Given the description of an element on the screen output the (x, y) to click on. 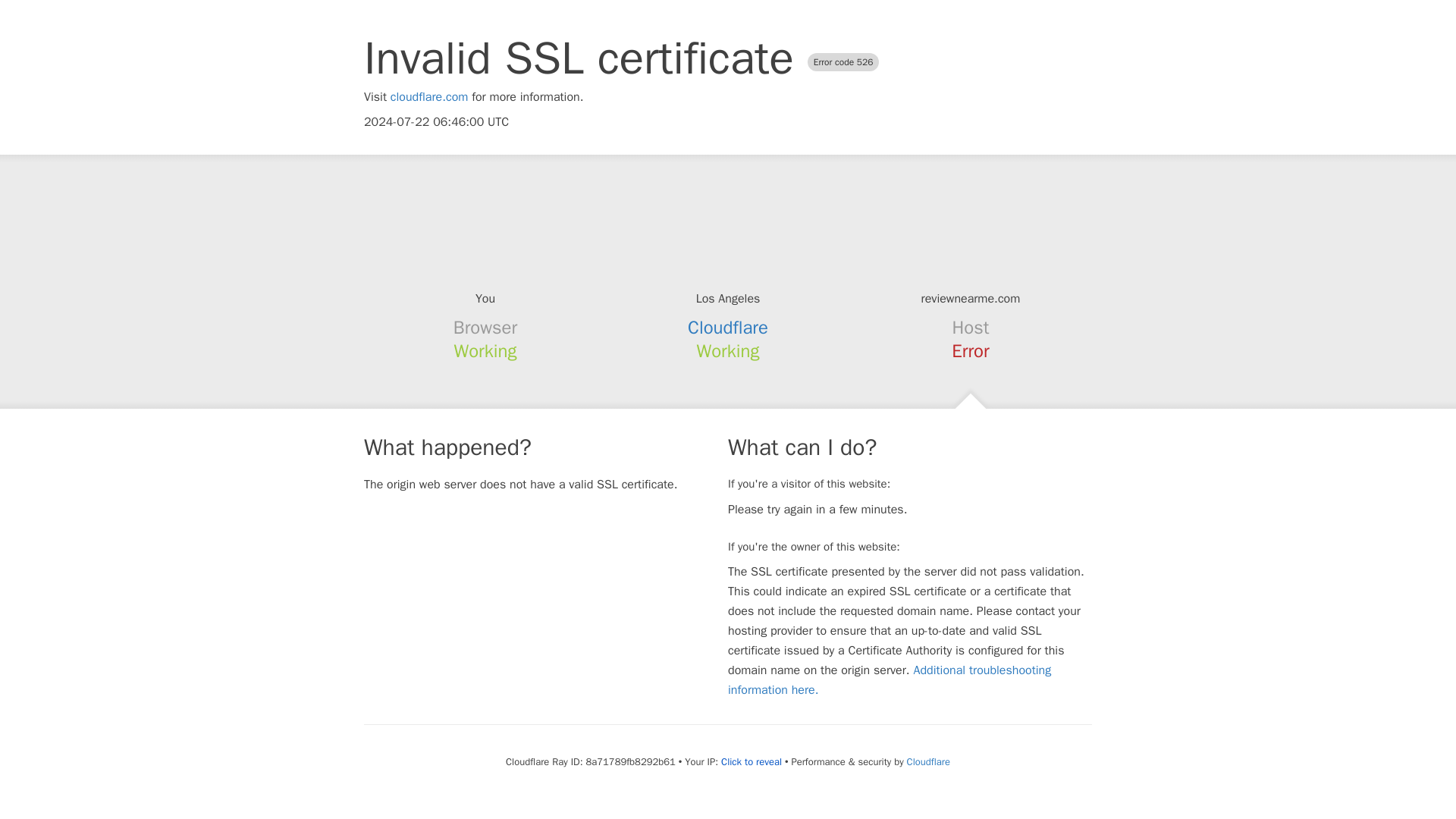
Additional troubleshooting information here. (889, 679)
Click to reveal (750, 762)
Cloudflare (928, 761)
Cloudflare (727, 327)
cloudflare.com (429, 96)
